Given the description of an element on the screen output the (x, y) to click on. 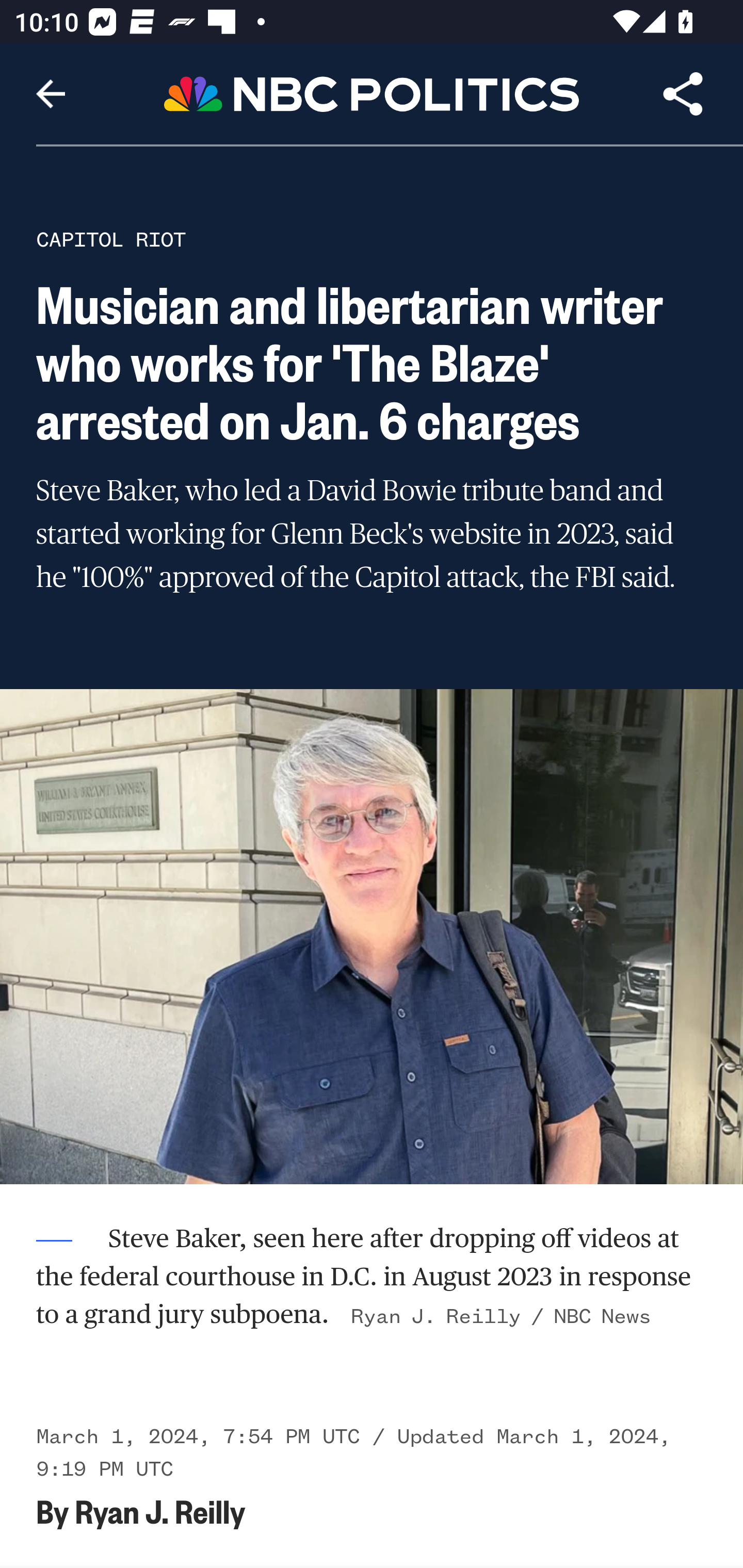
Navigate up (50, 93)
Share Article, button (683, 94)
Header, NBC Politics (371, 93)
CAPITOL RIOT (110, 239)
